Given the description of an element on the screen output the (x, y) to click on. 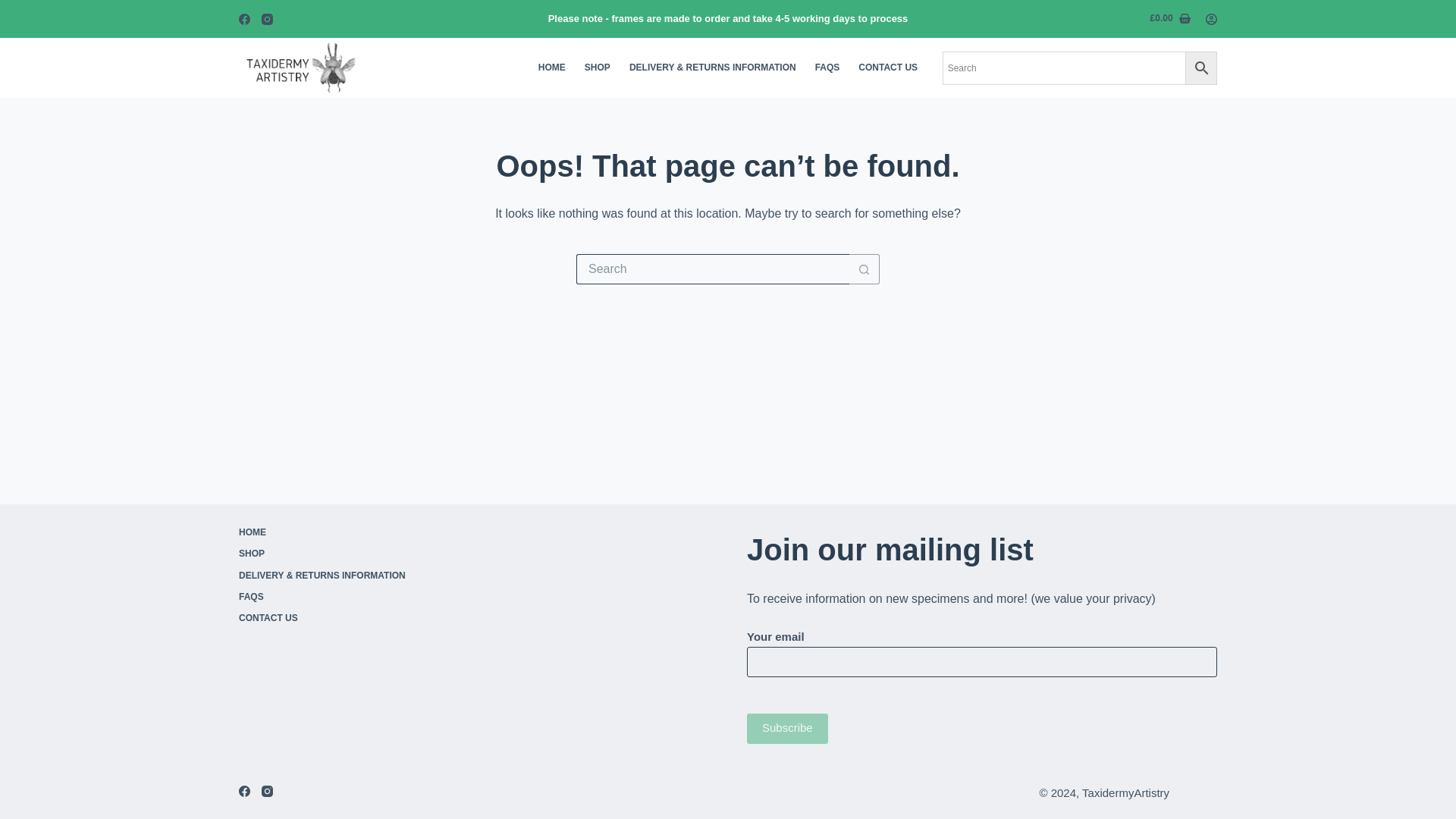
HOME (427, 532)
Skip to content (15, 7)
Subscribe (787, 727)
SHOP (597, 67)
HOME (551, 67)
FAQS (826, 67)
SHOP (427, 553)
Search for... (712, 268)
CONTACT US (427, 618)
CONTACT US (887, 67)
FAQS (427, 597)
Subscribe (787, 727)
